Given the description of an element on the screen output the (x, y) to click on. 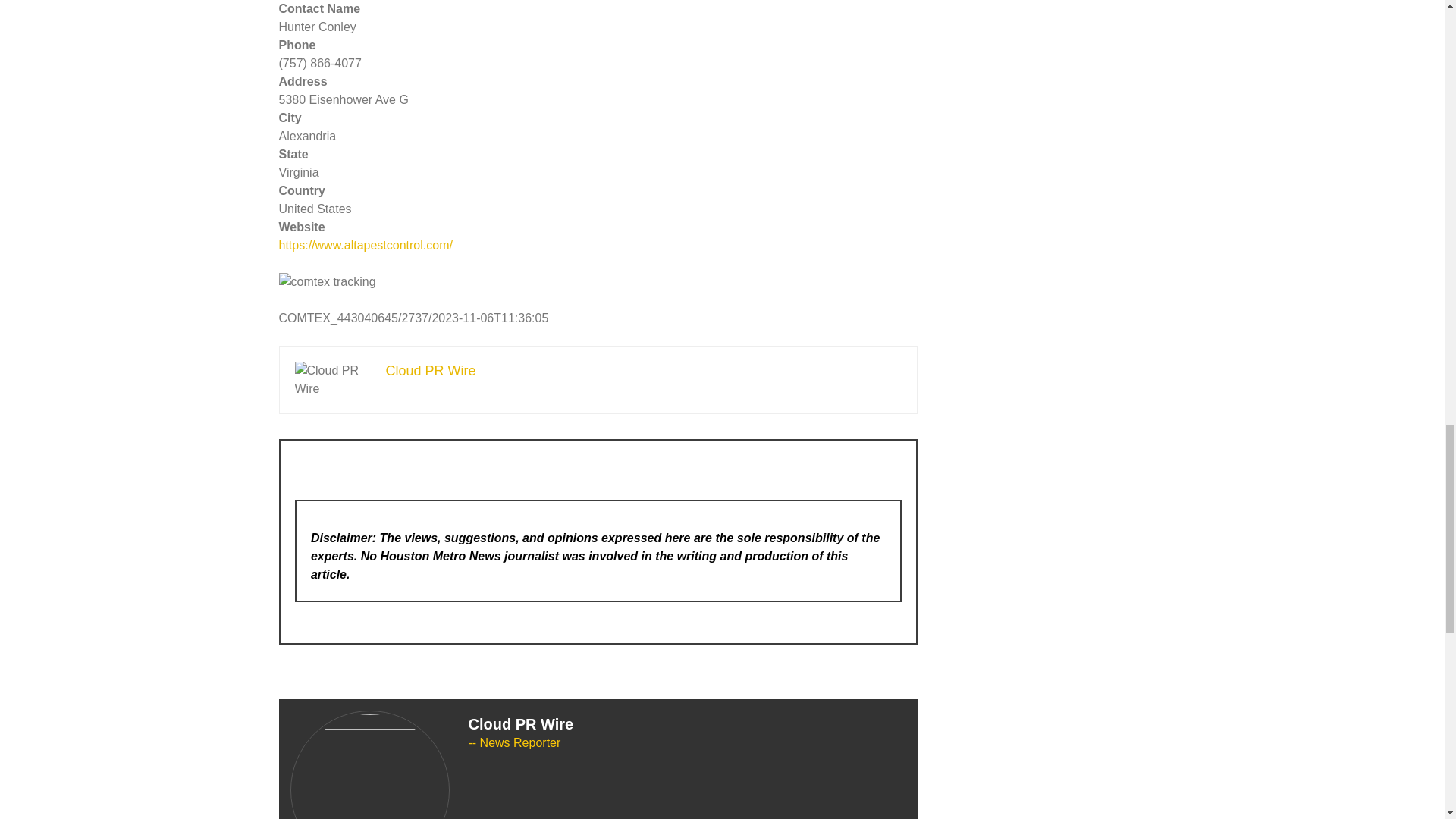
Cloud PR Wire (430, 370)
Posts by Cloud PR Wire (520, 723)
Cloud PR Wire (520, 723)
